Given the description of an element on the screen output the (x, y) to click on. 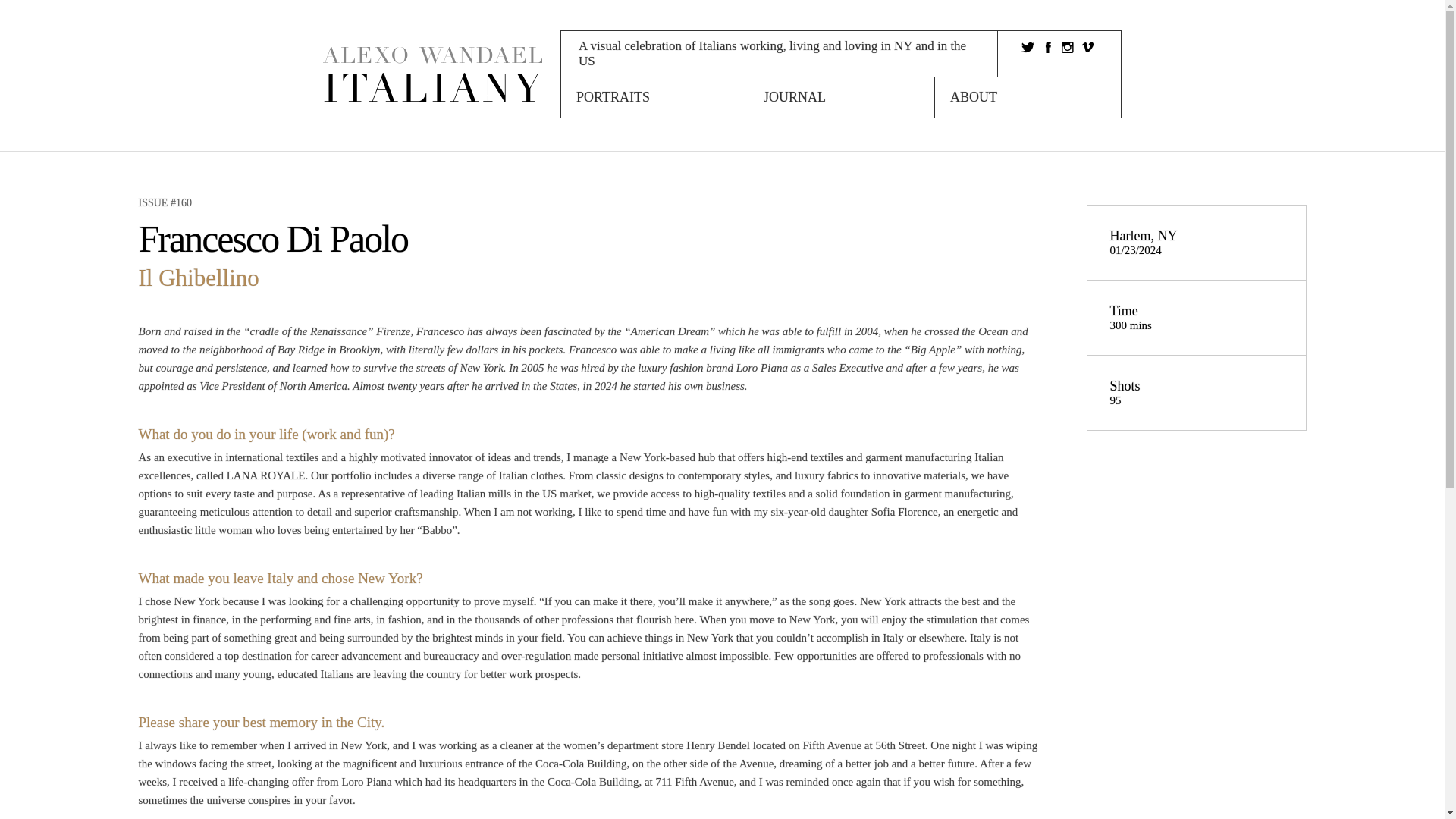
JOURNAL (841, 96)
PORTRAITS (654, 96)
ABOUT (1027, 96)
